Given the description of an element on the screen output the (x, y) to click on. 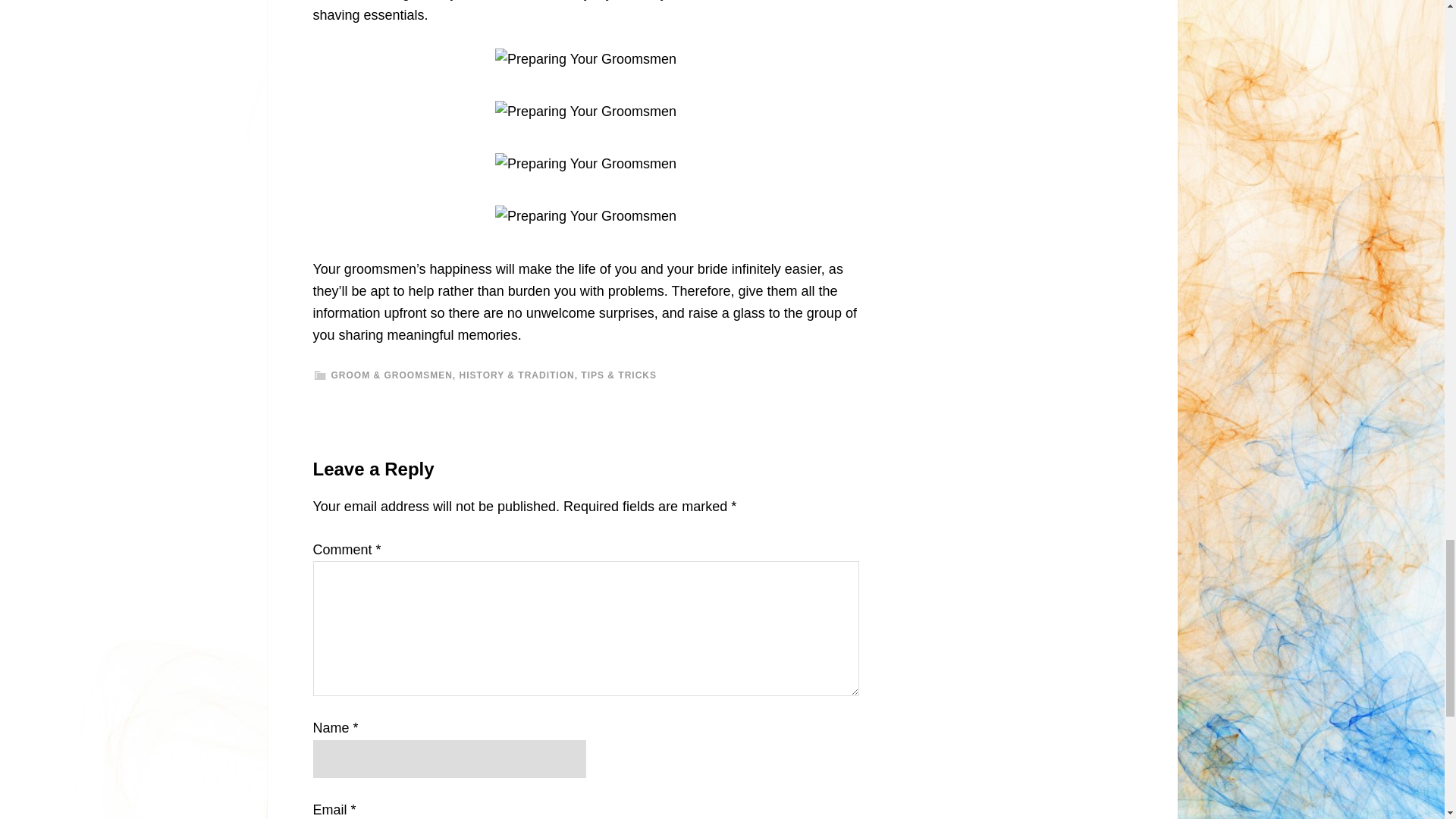
Preparing Your Groomsmen Photo (586, 59)
Preparing Your Groomsmen Photo (586, 216)
Preparing Your Groomsmen Photo (586, 111)
Preparing Your Groomsmen Photo (586, 164)
